Given the description of an element on the screen output the (x, y) to click on. 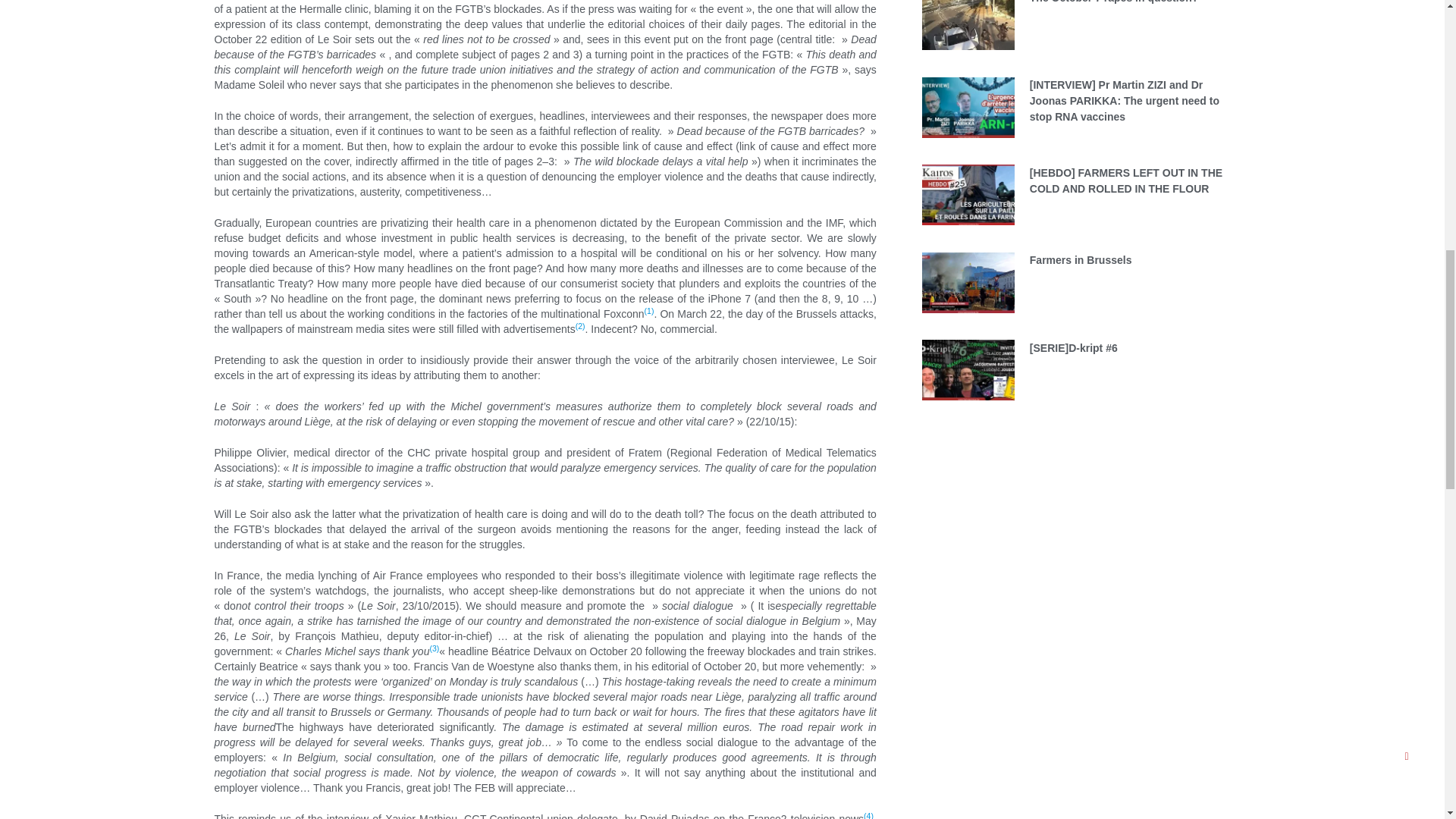
Farmers in Brussels (1080, 259)
The October 7 rapes in question? (1113, 2)
